Given the description of an element on the screen output the (x, y) to click on. 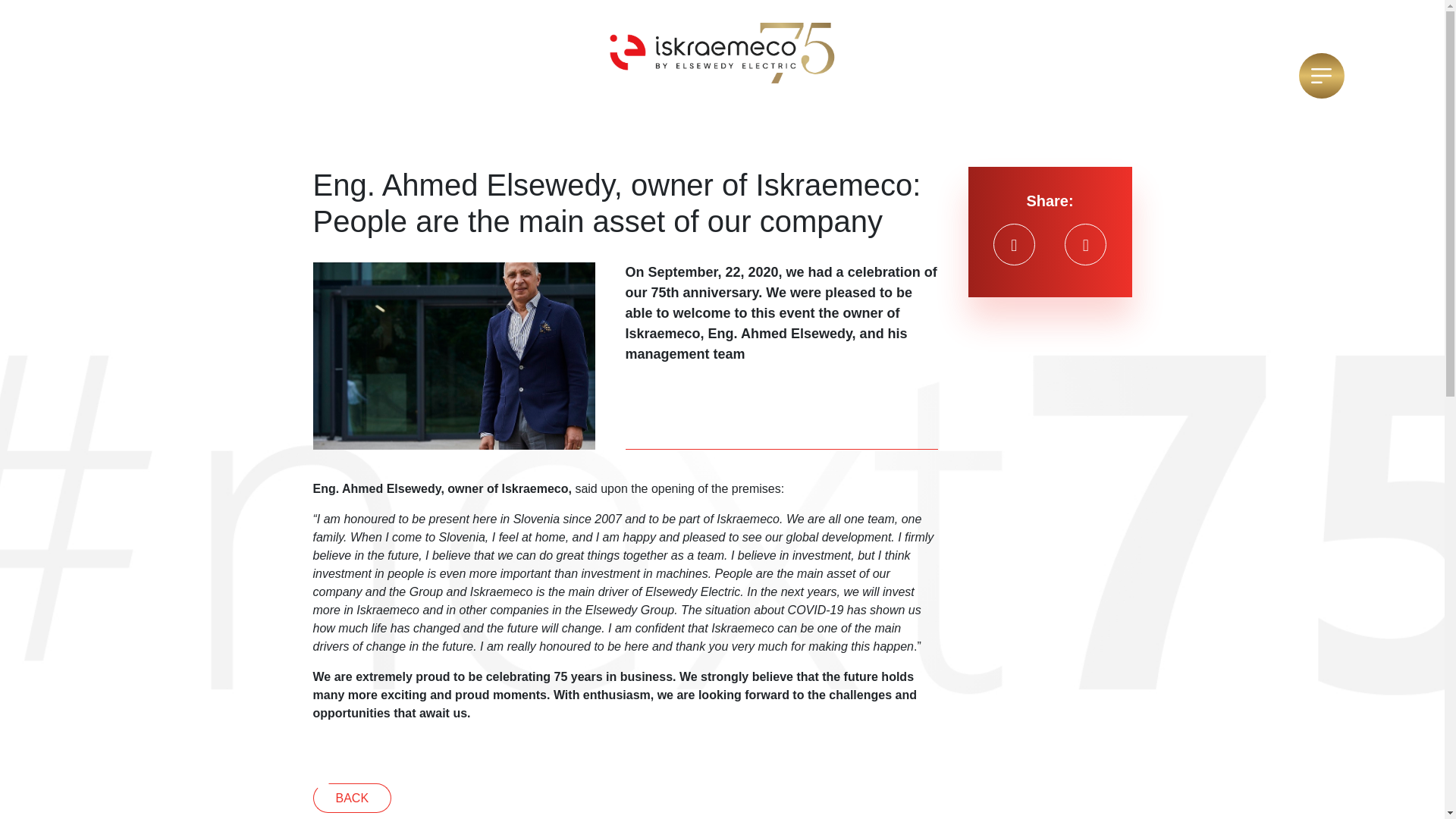
BACK (352, 798)
